Given the description of an element on the screen output the (x, y) to click on. 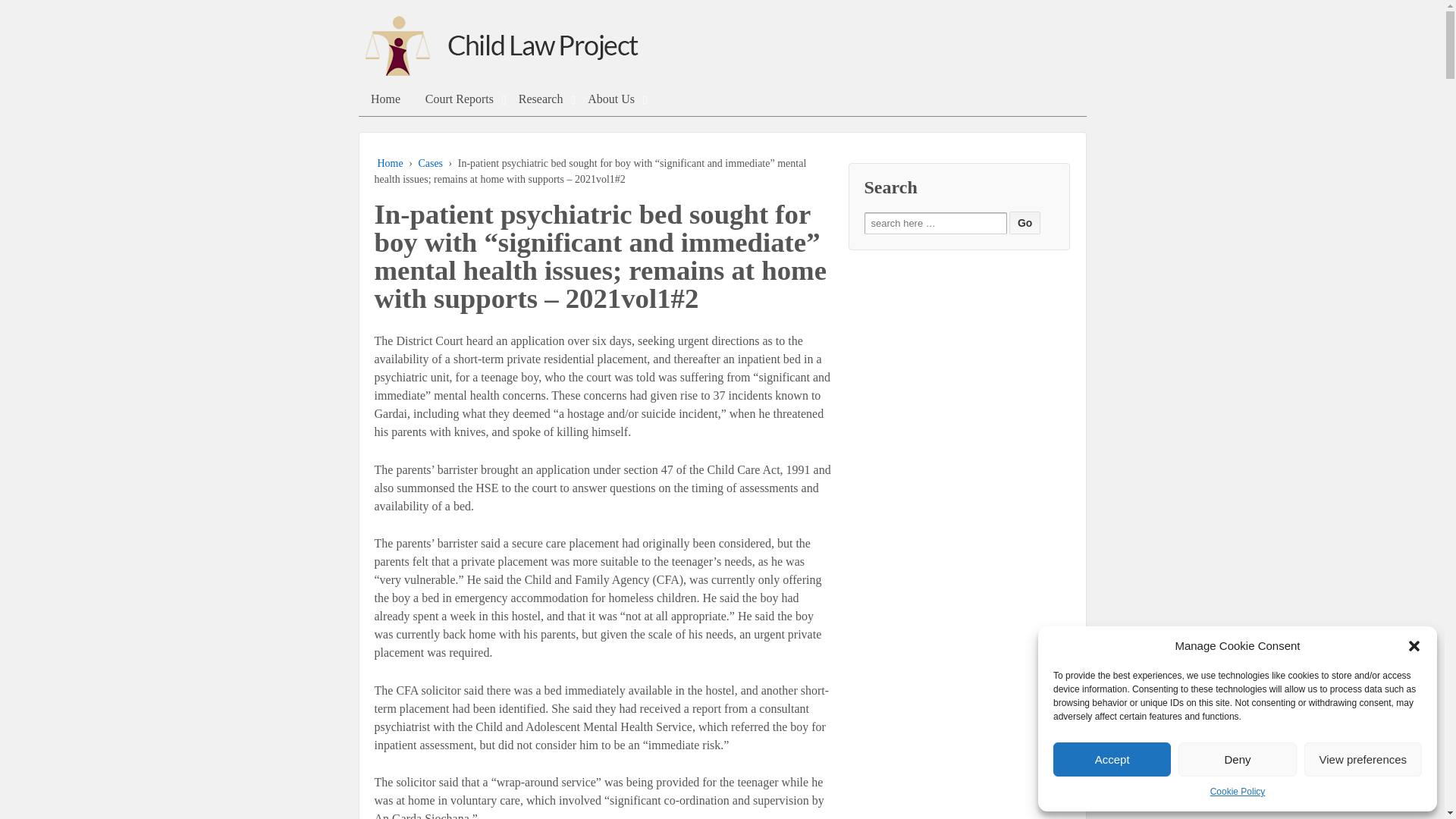
View preferences (1363, 759)
Cookie Policy (1237, 791)
Go (1025, 222)
Go (1025, 222)
Cases (429, 163)
Research (539, 98)
About Us (611, 98)
Court Reports (458, 98)
Deny (1236, 759)
Home (390, 163)
Home (384, 98)
Accept (1111, 759)
